Given the description of an element on the screen output the (x, y) to click on. 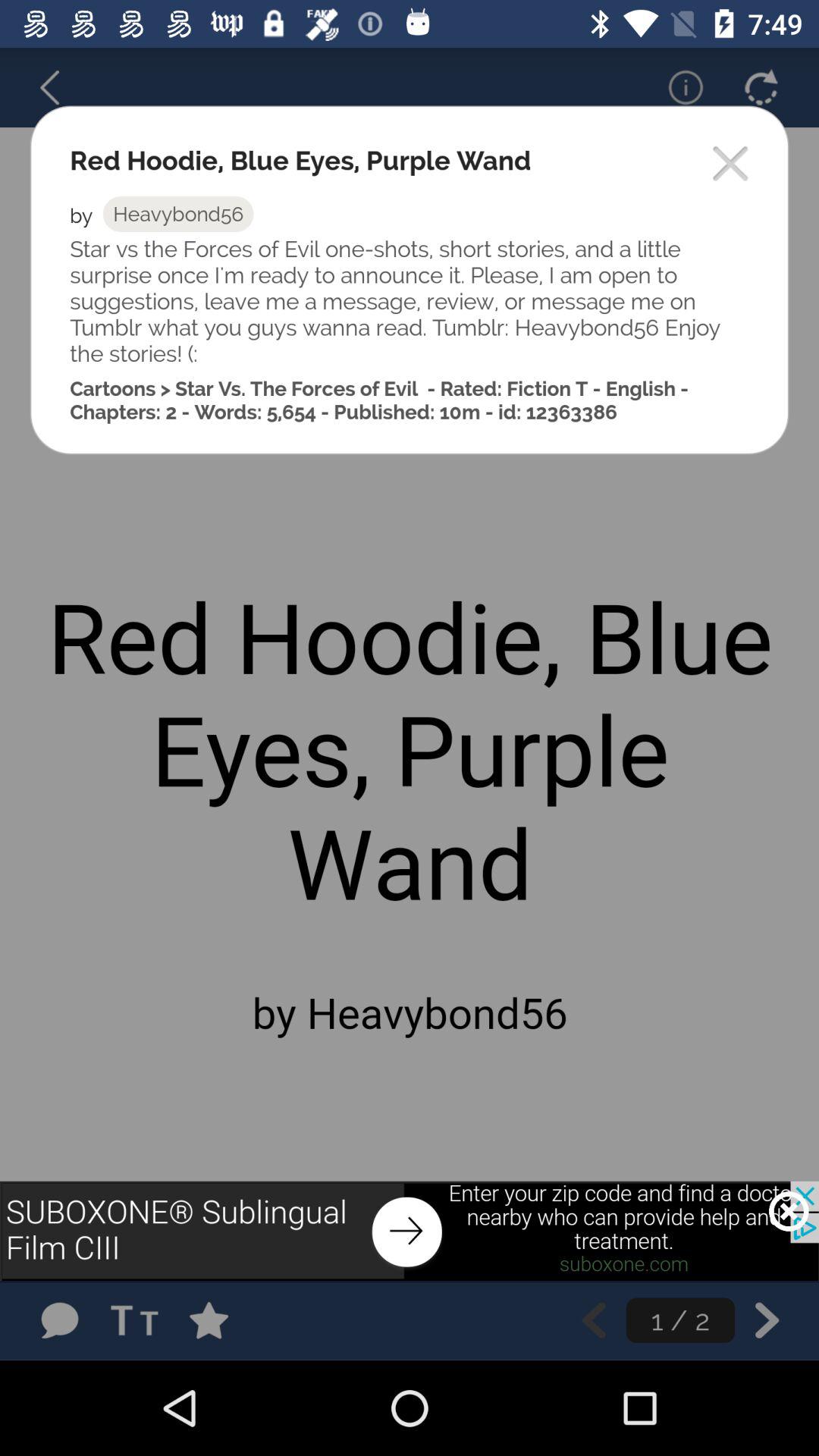
close popup (731, 165)
